Given the description of an element on the screen output the (x, y) to click on. 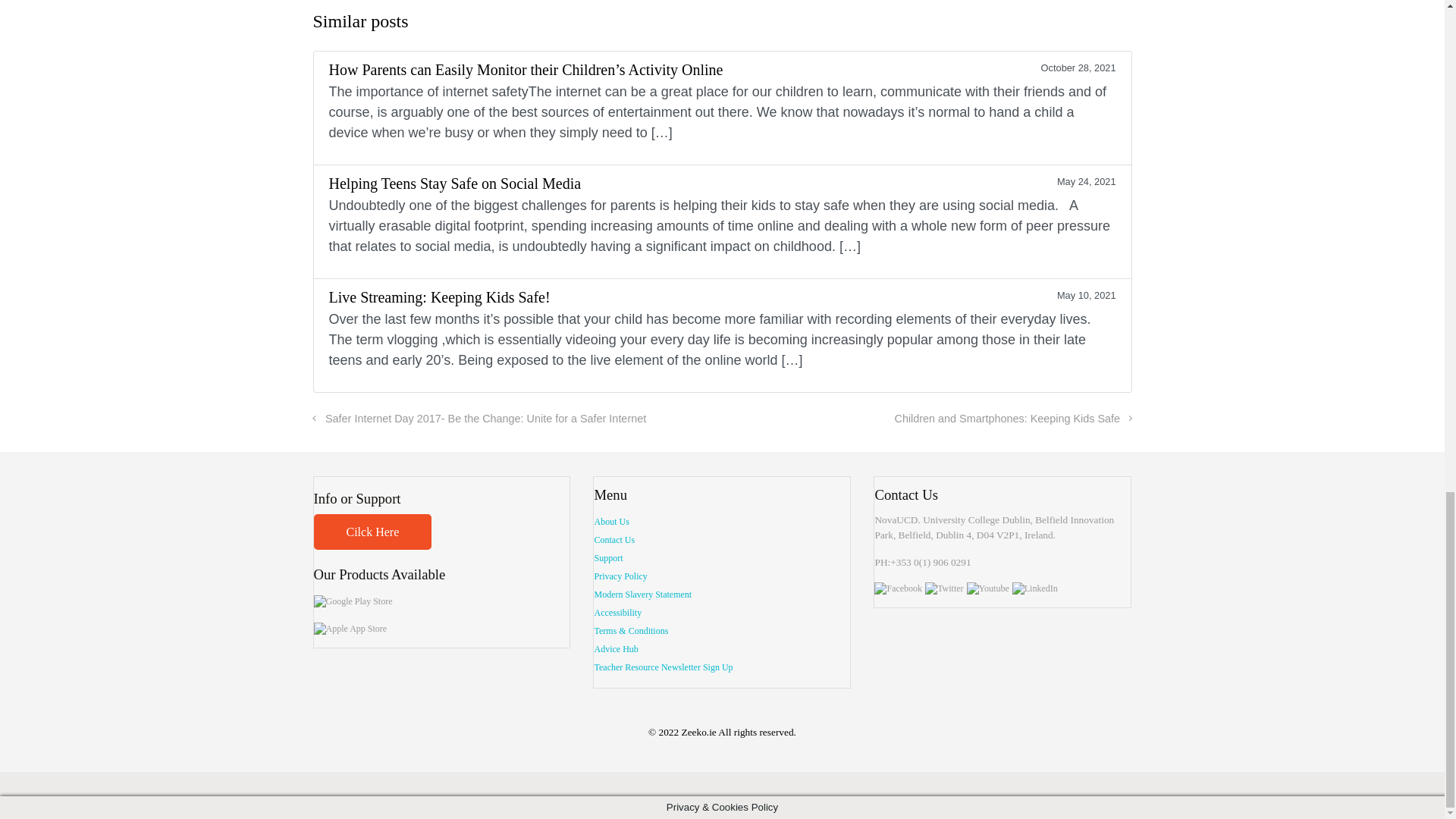
Permanent Link to Helping Teens Stay Safe on Social Media (722, 221)
Facebook (898, 588)
Twitter (943, 588)
Permanent Link to Live Streaming: Keeping Kids Safe! (722, 335)
Google Play Store (353, 601)
Apple App Store (350, 628)
